Given the description of an element on the screen output the (x, y) to click on. 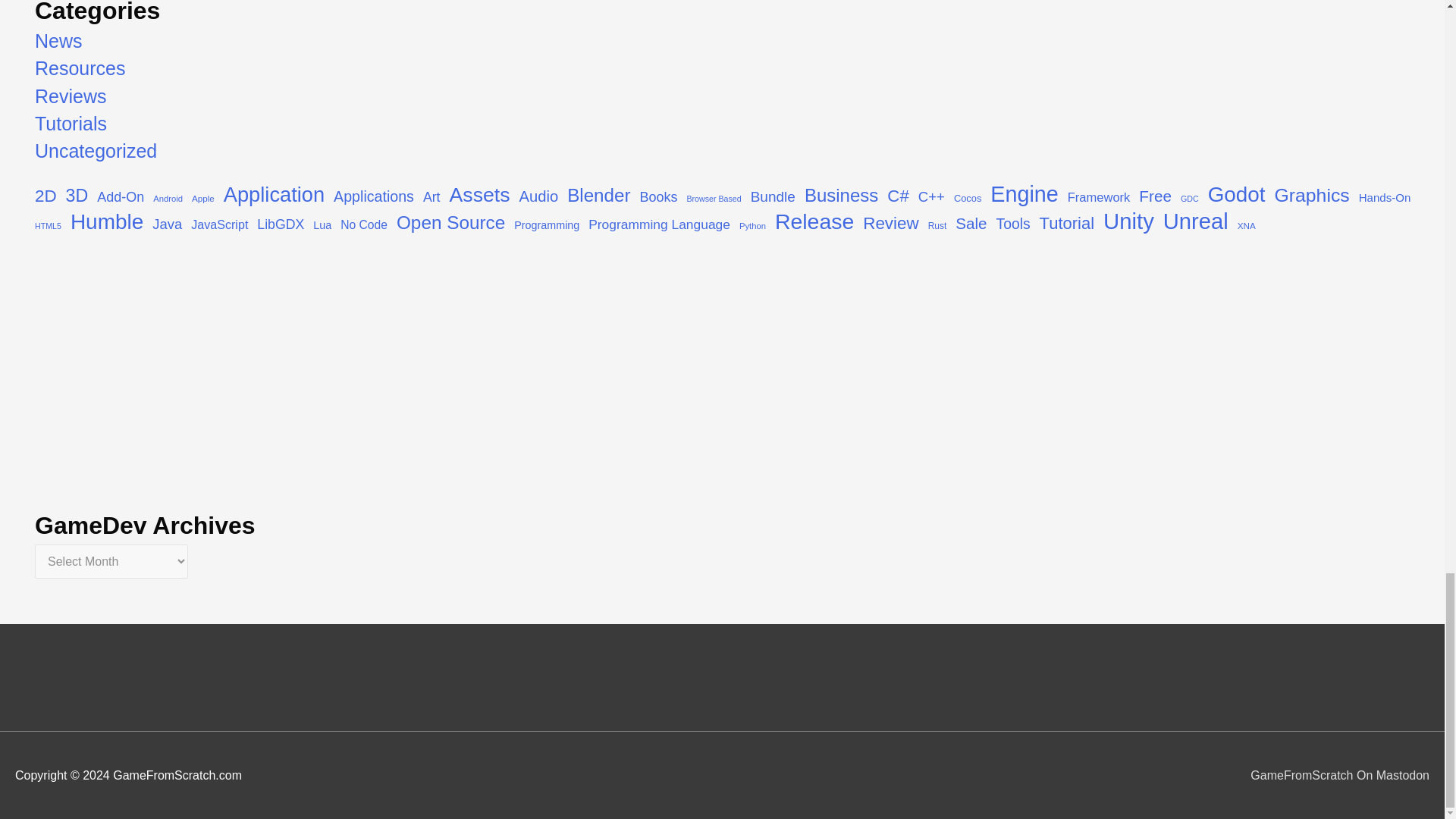
Tutorials (70, 123)
Resources (79, 67)
News (58, 40)
2D (45, 196)
Uncategorized (95, 150)
3D (76, 196)
Reviews (70, 96)
